Given the description of an element on the screen output the (x, y) to click on. 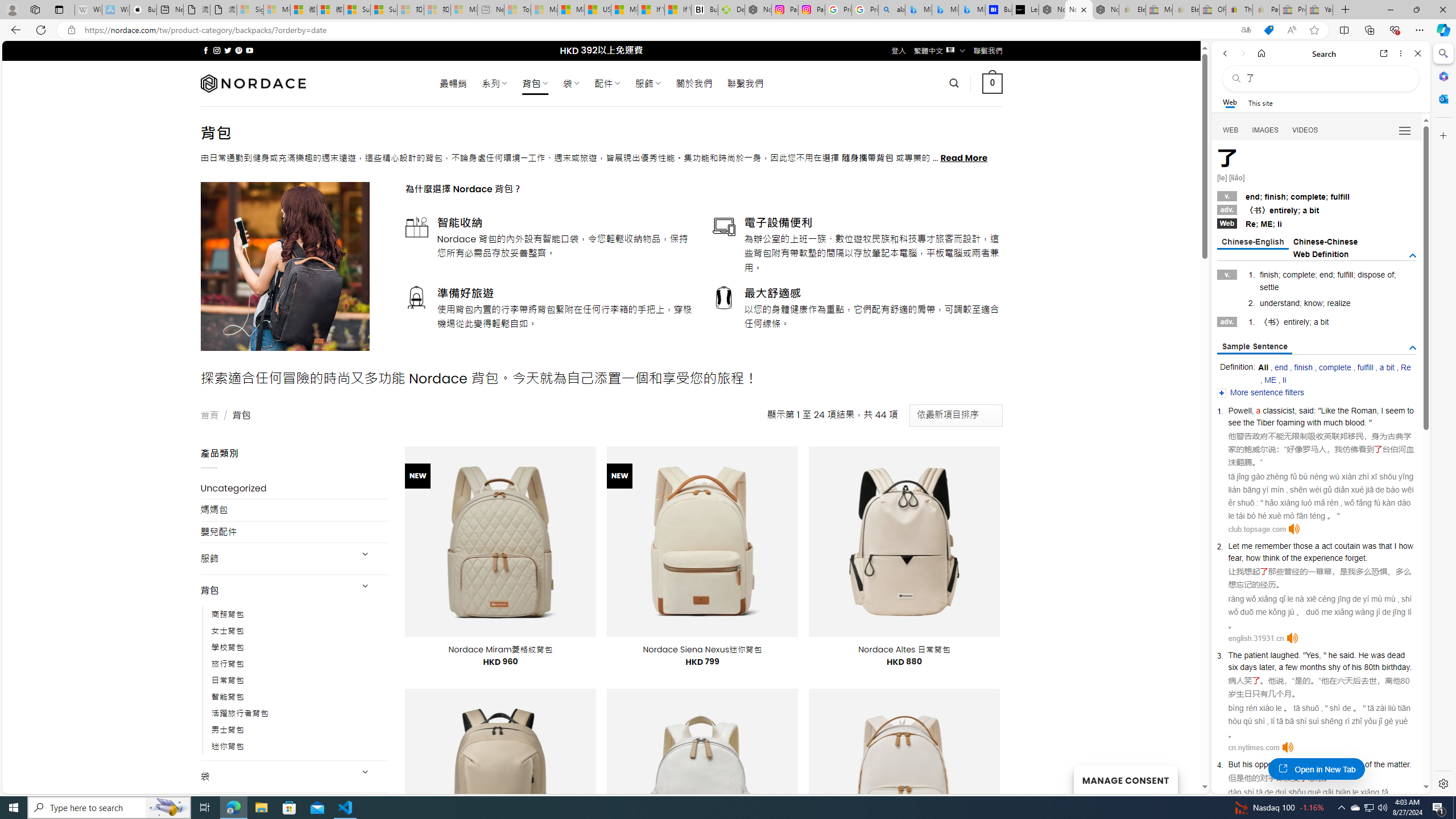
Marine life - MSN - Sleeping (543, 9)
AutomationID: tgdef (1412, 255)
he (1332, 655)
WebRe; ME; li (1316, 223)
realize (1338, 302)
